Given the description of an element on the screen output the (x, y) to click on. 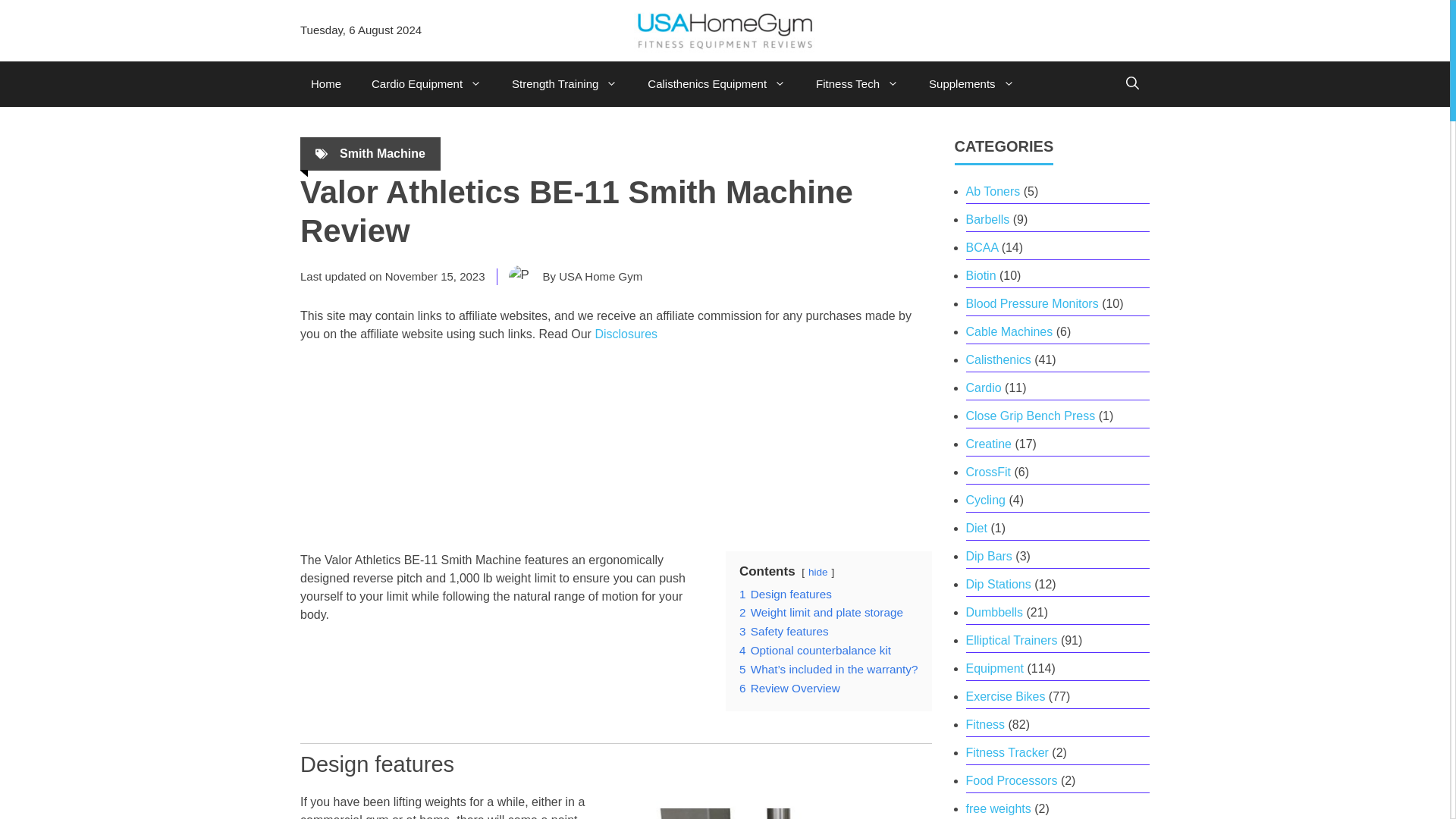
Calisthenics Equipment (715, 84)
Supplements (971, 84)
Home (325, 84)
Strength Training (563, 84)
Fitness Tech (857, 84)
Cardio Equipment (426, 84)
